Given the description of an element on the screen output the (x, y) to click on. 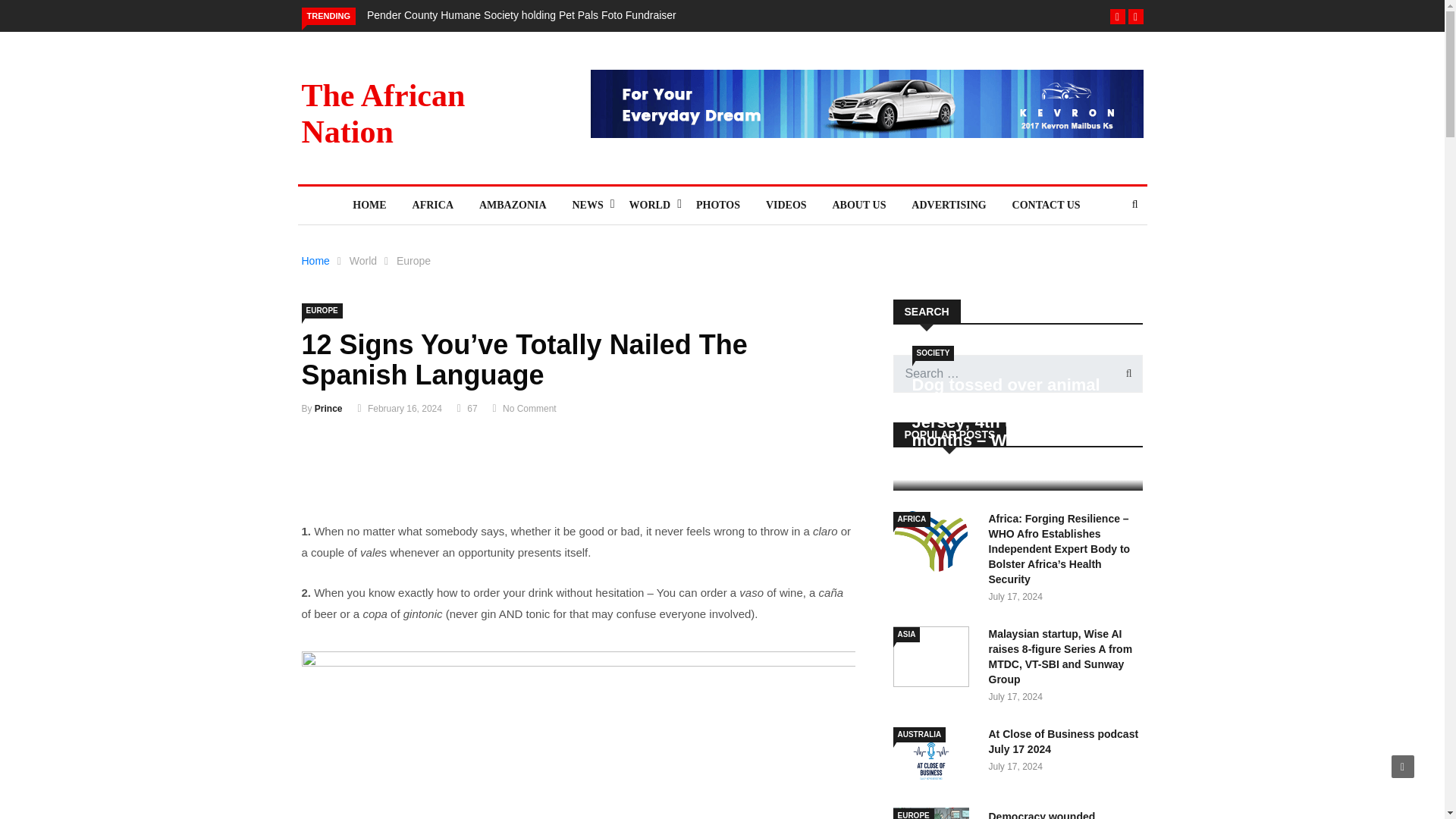
ABOUT US (858, 205)
Prince (328, 408)
Search for: (1017, 373)
The African Nation (383, 113)
At Close of Business podcast July 17 2024 (1063, 741)
PHOTOS (717, 205)
World (363, 260)
ADVERTISING (948, 205)
AFRICA (432, 205)
Home (315, 260)
WORLD (649, 205)
No Comment (529, 408)
Democracy wounded (934, 813)
